Given the description of an element on the screen output the (x, y) to click on. 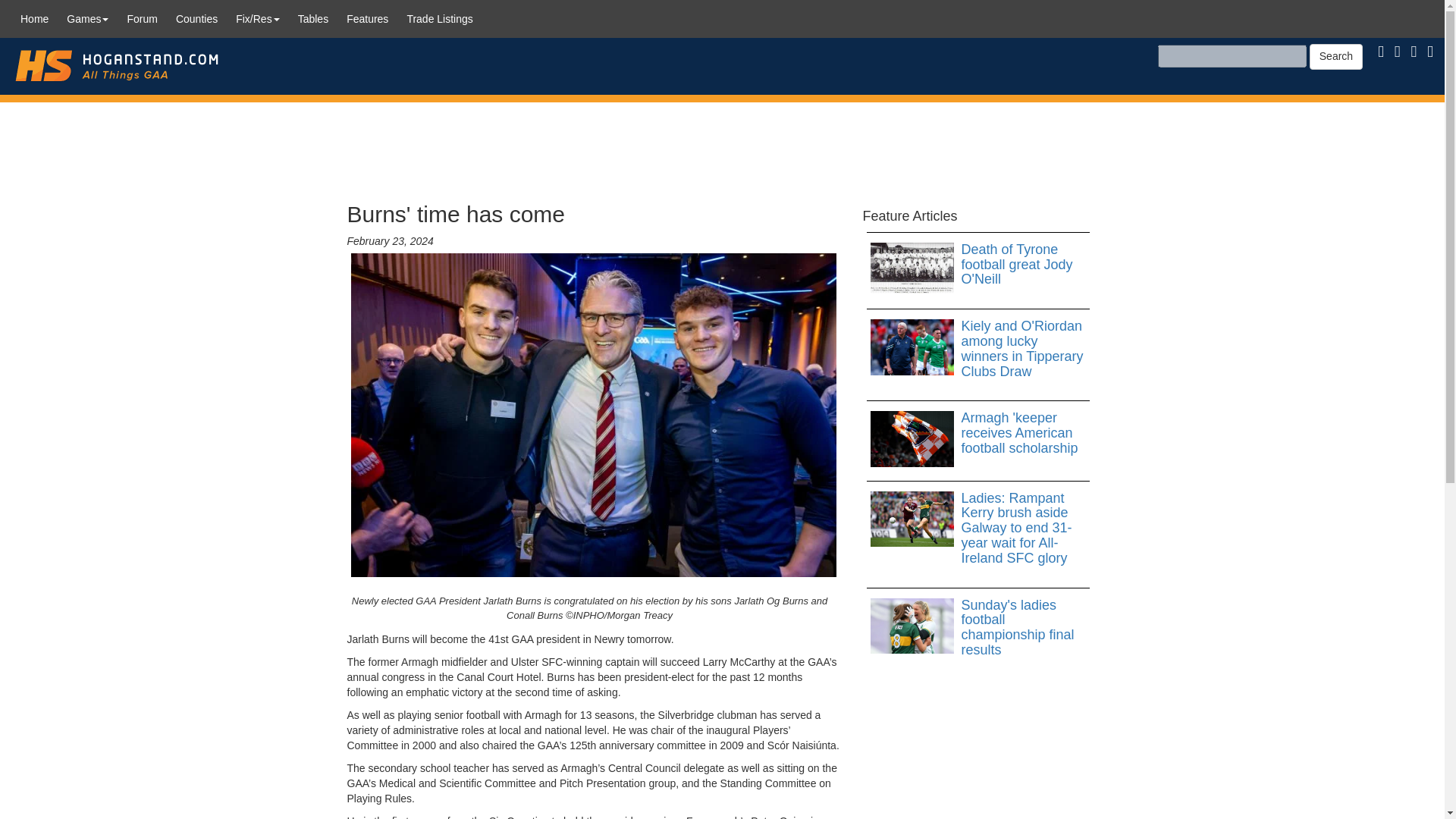
Forum (141, 18)
Tables (312, 18)
Death of Tyrone football great Jody O'Neill (978, 264)
Games (87, 18)
Home (34, 18)
Counties (197, 18)
Armagh 'keeper receives American football scholarship (978, 433)
Search (1335, 56)
